Given the description of an element on the screen output the (x, y) to click on. 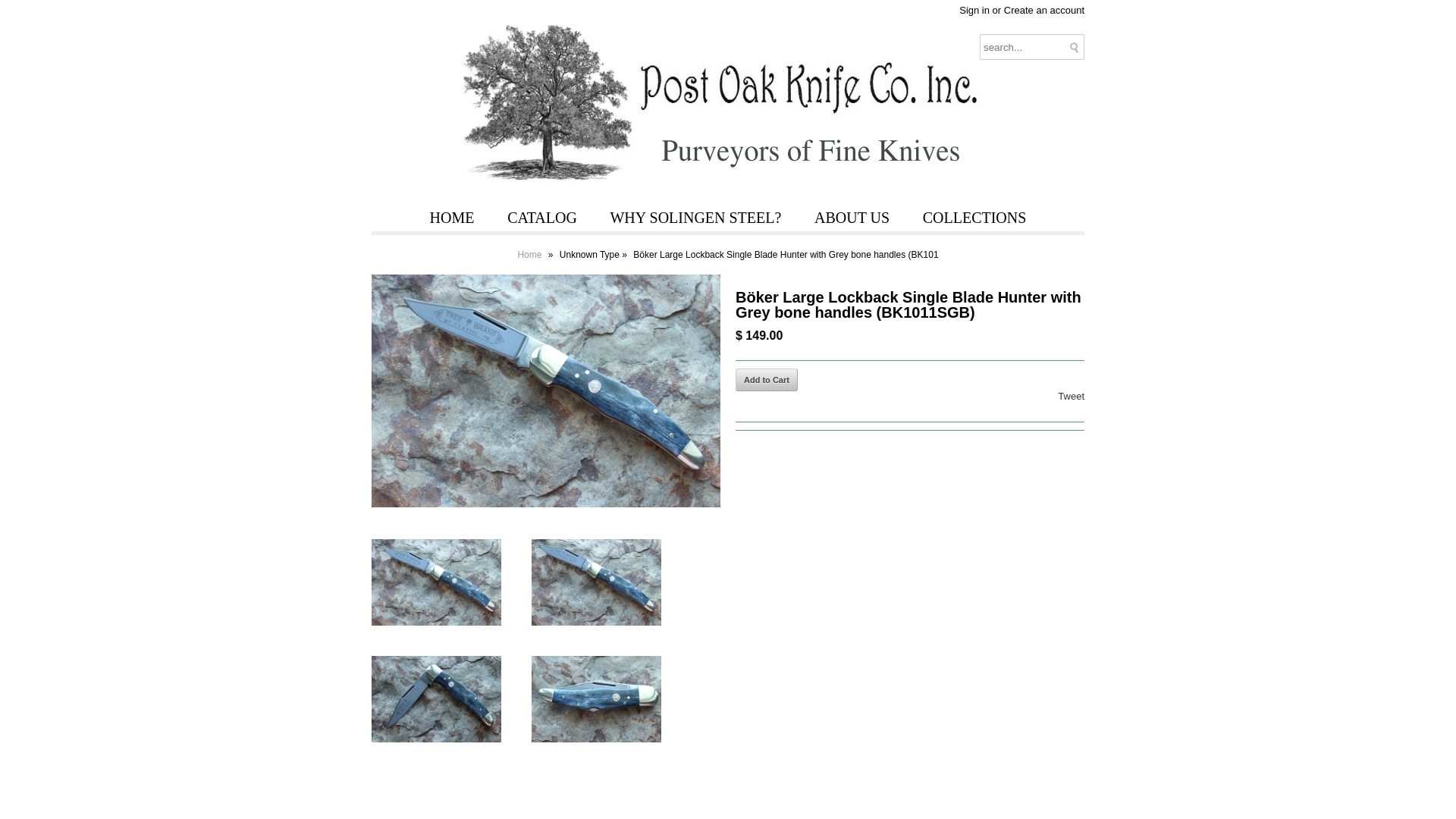
HOME (451, 217)
Tweet (1071, 396)
Add to Cart (766, 379)
ABOUT US (851, 217)
WHY SOLINGEN STEEL? (695, 217)
CATALOG (542, 217)
COLLECTIONS (974, 217)
Back to the frontpage (530, 254)
Home (530, 254)
Sign in (974, 9)
